Given the description of an element on the screen output the (x, y) to click on. 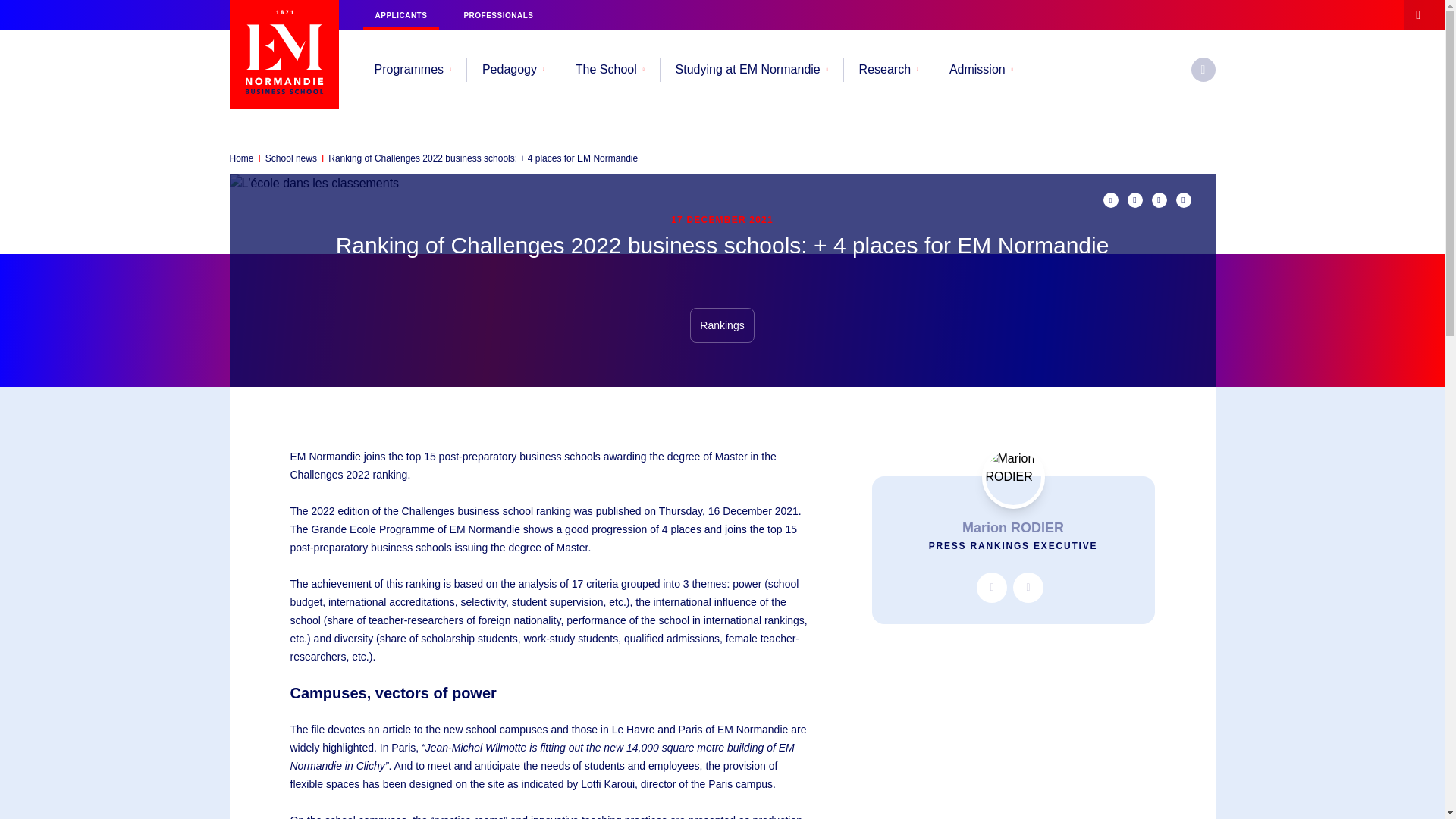
Partager sur twitter (1133, 200)
I am a professional (497, 15)
Marion RODIER (1012, 476)
Partager par mail (1110, 200)
Partager sur Linkedin (1158, 200)
Partager sur Facebook (1182, 200)
I am a non-French student (400, 15)
contacter par e-mail (1028, 587)
